Given the description of an element on the screen output the (x, y) to click on. 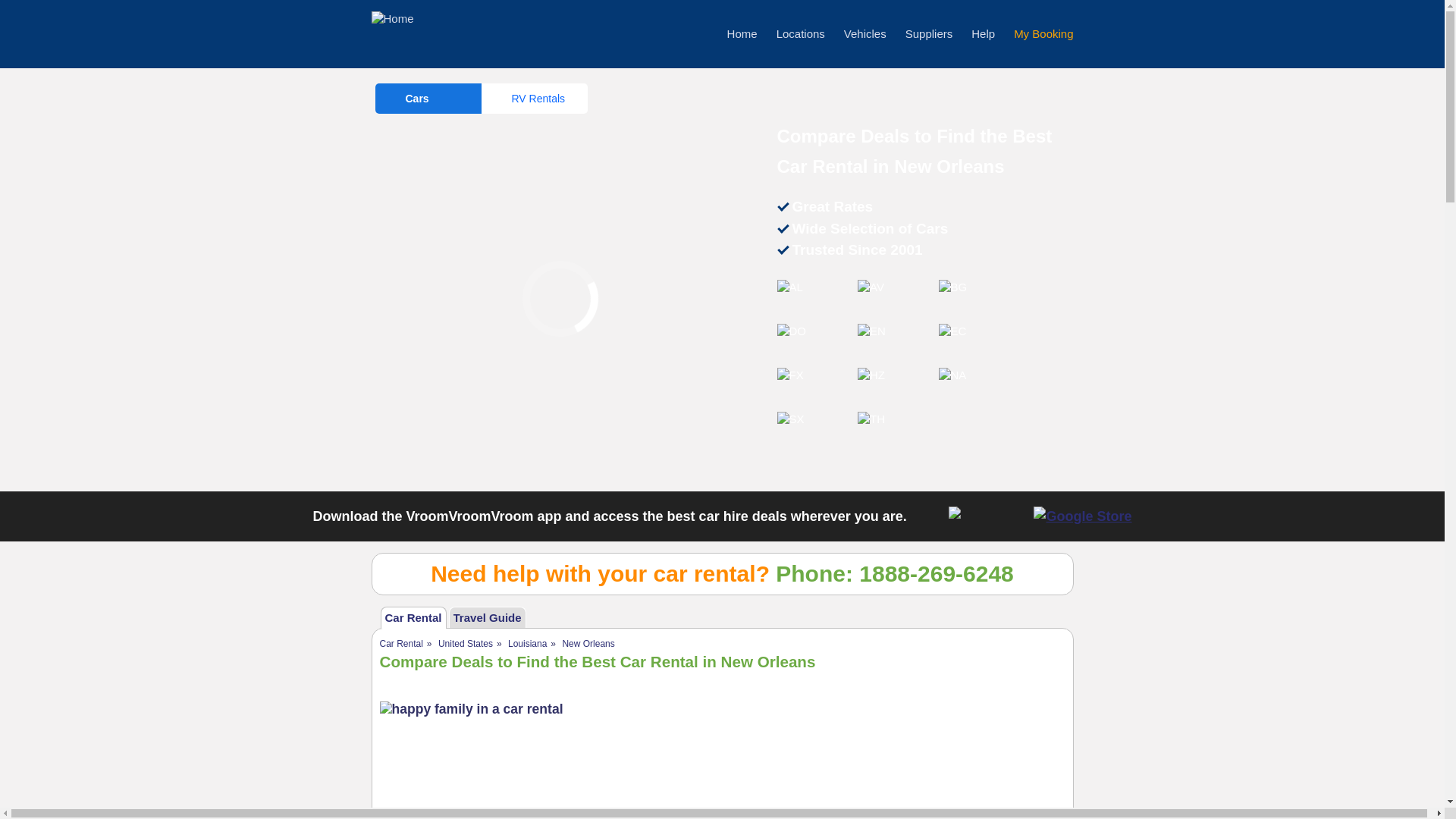
Vehicles (865, 33)
IOS App (987, 516)
My Booking (1043, 33)
Google App (1082, 516)
Suppliers (929, 33)
Locations (800, 33)
Home (741, 33)
Help (982, 33)
